Given the description of an element on the screen output the (x, y) to click on. 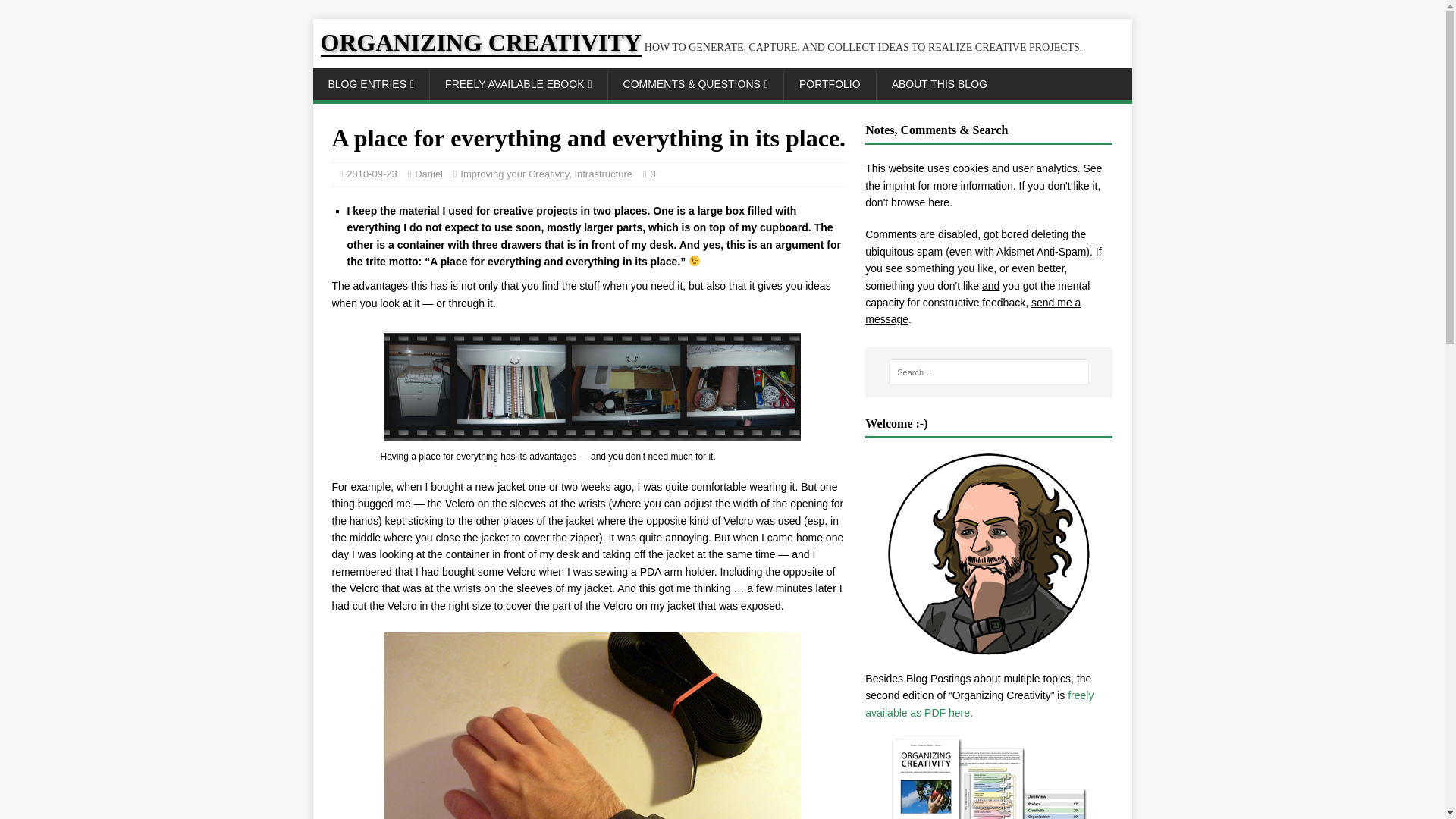
FREELY AVAILABLE EBOOK (518, 83)
ABOUT THIS BLOG (939, 83)
BLOG ENTRIES (371, 83)
PORTFOLIO (829, 83)
ORGANIZING CREATIVITY (700, 46)
2010-09-23 (371, 173)
